Given the description of an element on the screen output the (x, y) to click on. 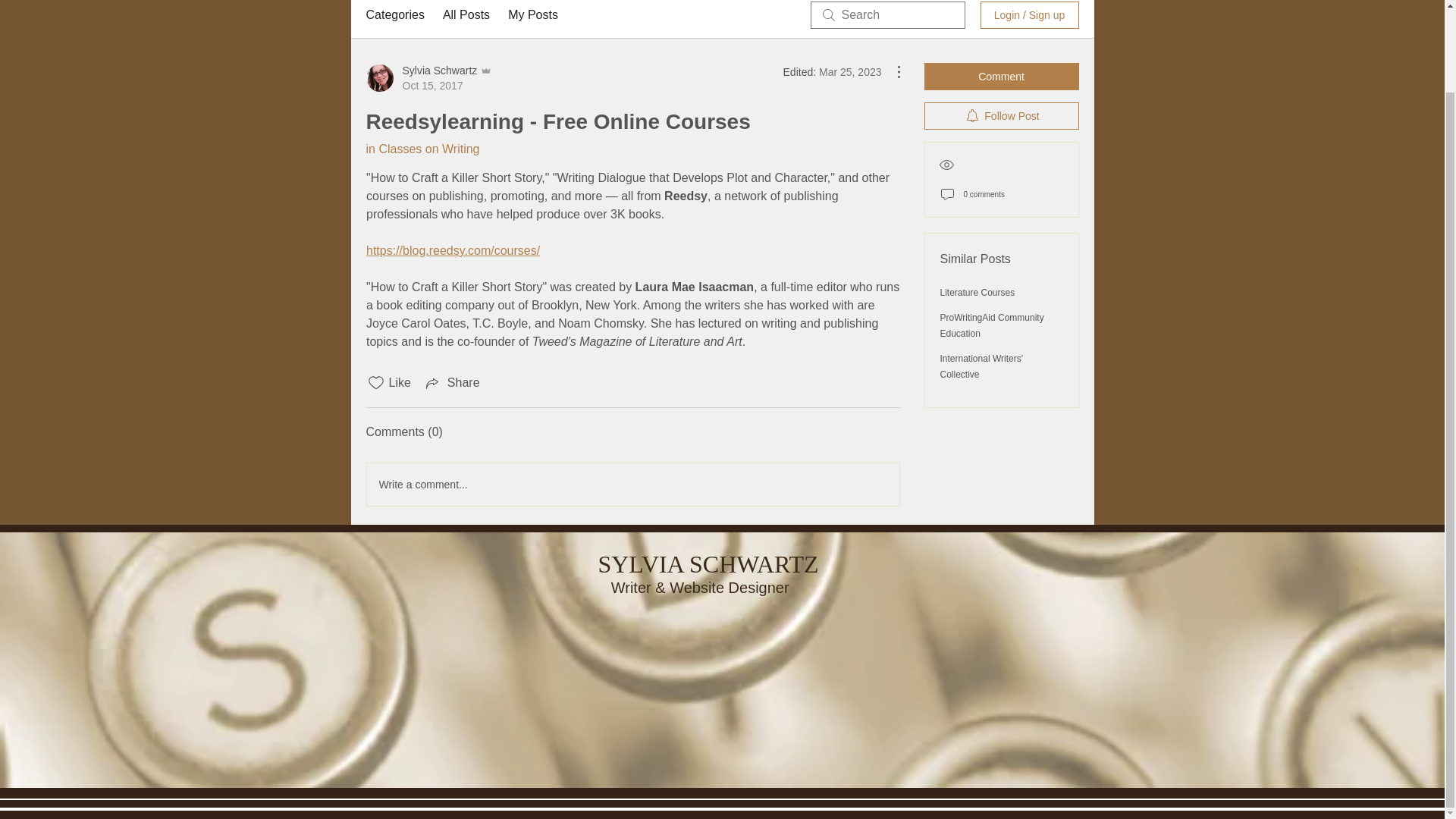
All Posts (465, 14)
ProWritingAid Community Education (991, 325)
Comment (1000, 76)
Share (451, 382)
Categories (394, 14)
Follow Post (1000, 115)
in Classes on Writing (422, 148)
  SYLVIA SCHWARTZ   (707, 564)
Literature Courses (977, 292)
My Posts (532, 14)
